Given the description of an element on the screen output the (x, y) to click on. 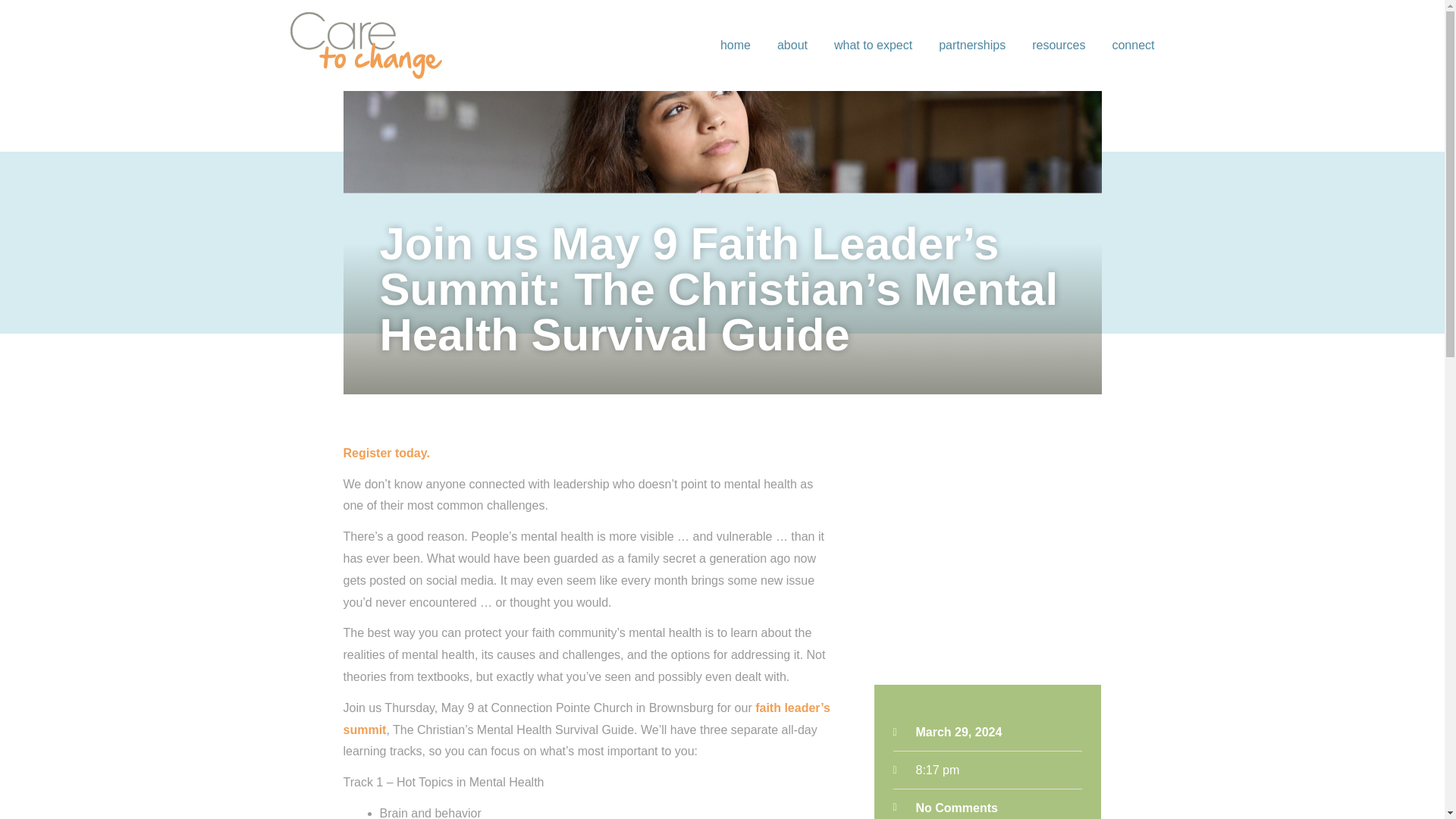
connect (1133, 45)
resources (1058, 45)
partnerships (972, 45)
what to expect (873, 45)
